Given the description of an element on the screen output the (x, y) to click on. 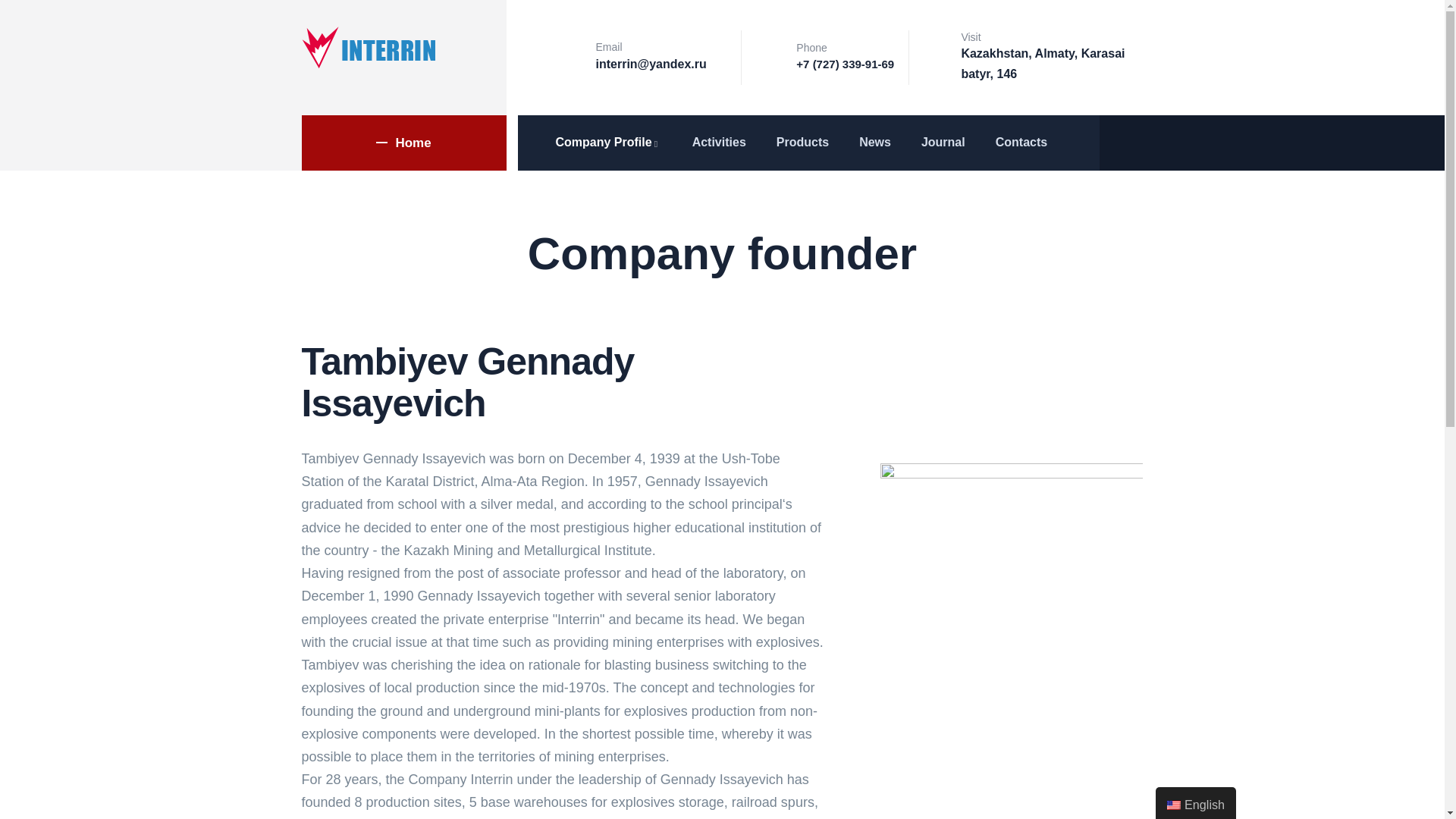
Products (802, 142)
Home (403, 142)
Activities (719, 142)
Contacts (1020, 142)
Home (368, 47)
English (1173, 804)
Journal (942, 142)
Company Profile (608, 142)
News (874, 142)
Kazakhstan, Almaty, Karasai batyr, 146 (1042, 63)
